Given the description of an element on the screen output the (x, y) to click on. 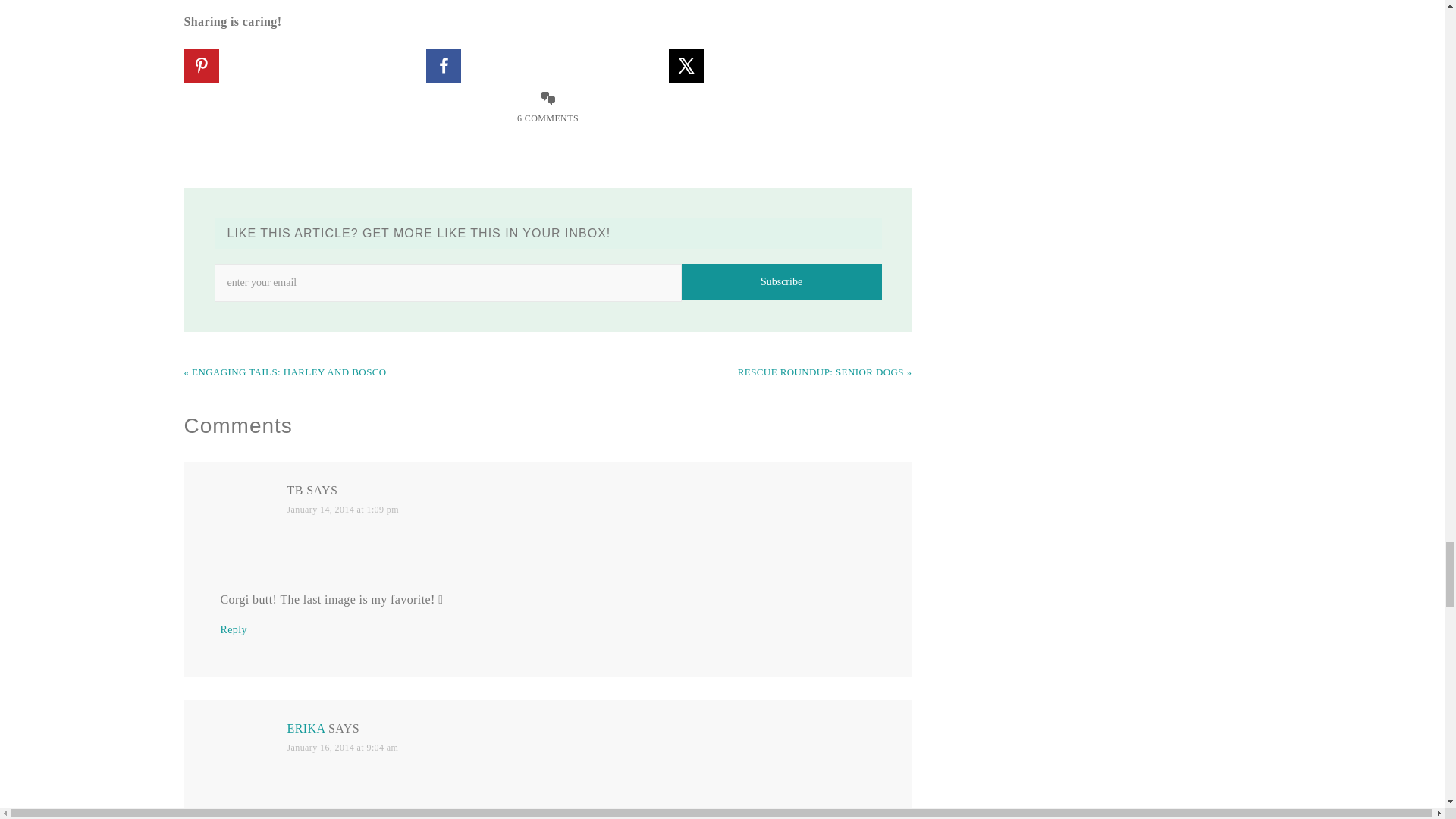
Subscribe (780, 281)
